Given the description of an element on the screen output the (x, y) to click on. 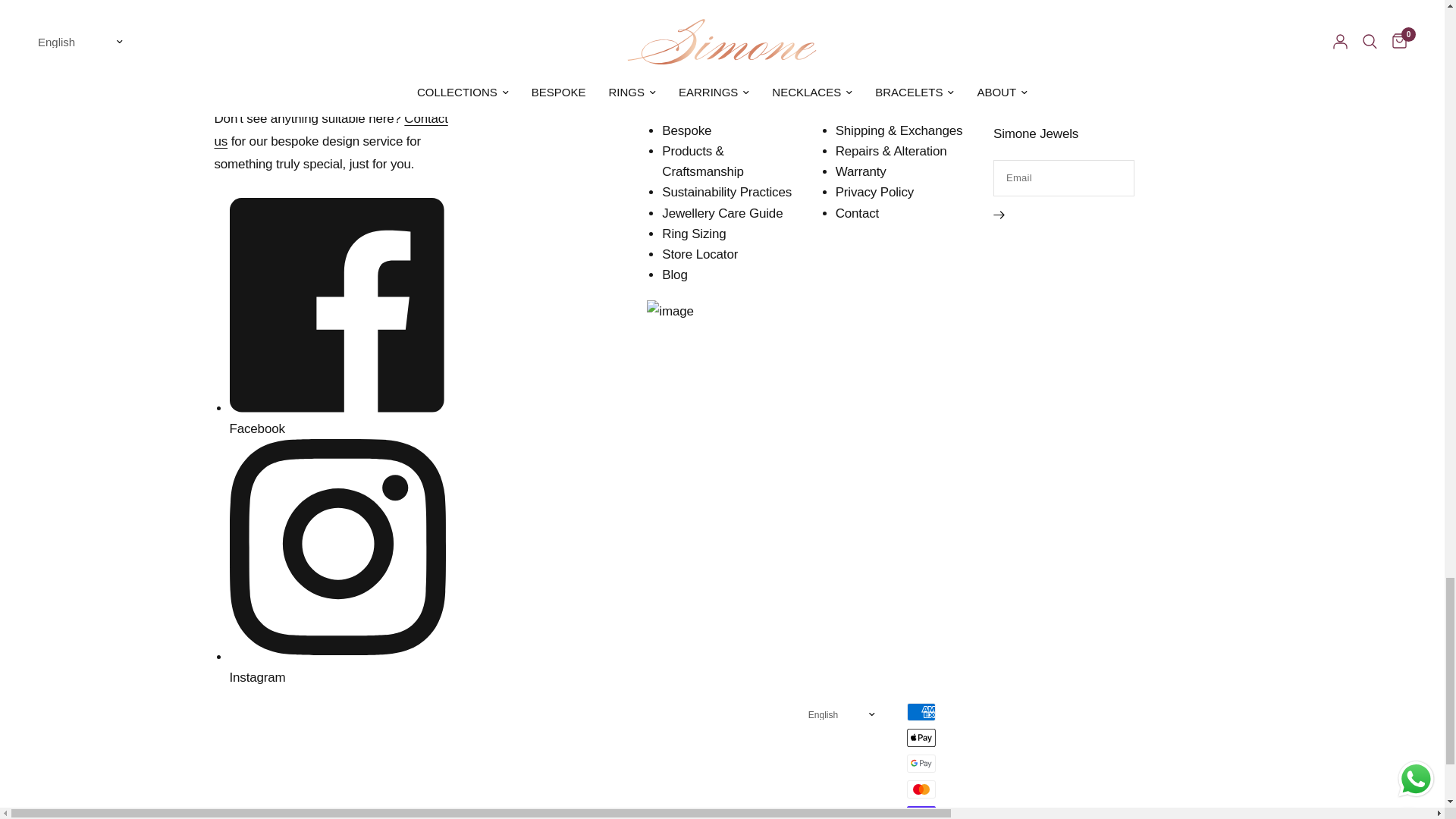
TATTOO (24, 40)
JEWELS OF ARCHITECTURE (1119, 40)
Mastercard (921, 789)
Google Pay (921, 763)
RHAPSODY (378, 40)
BOMBSHELL (757, 40)
SIMONE X KATERINA PEREZ (563, 40)
Apple Pay (921, 737)
BIRDS IN POETRY (910, 40)
RHAPSODY (375, 40)
